Given the description of an element on the screen output the (x, y) to click on. 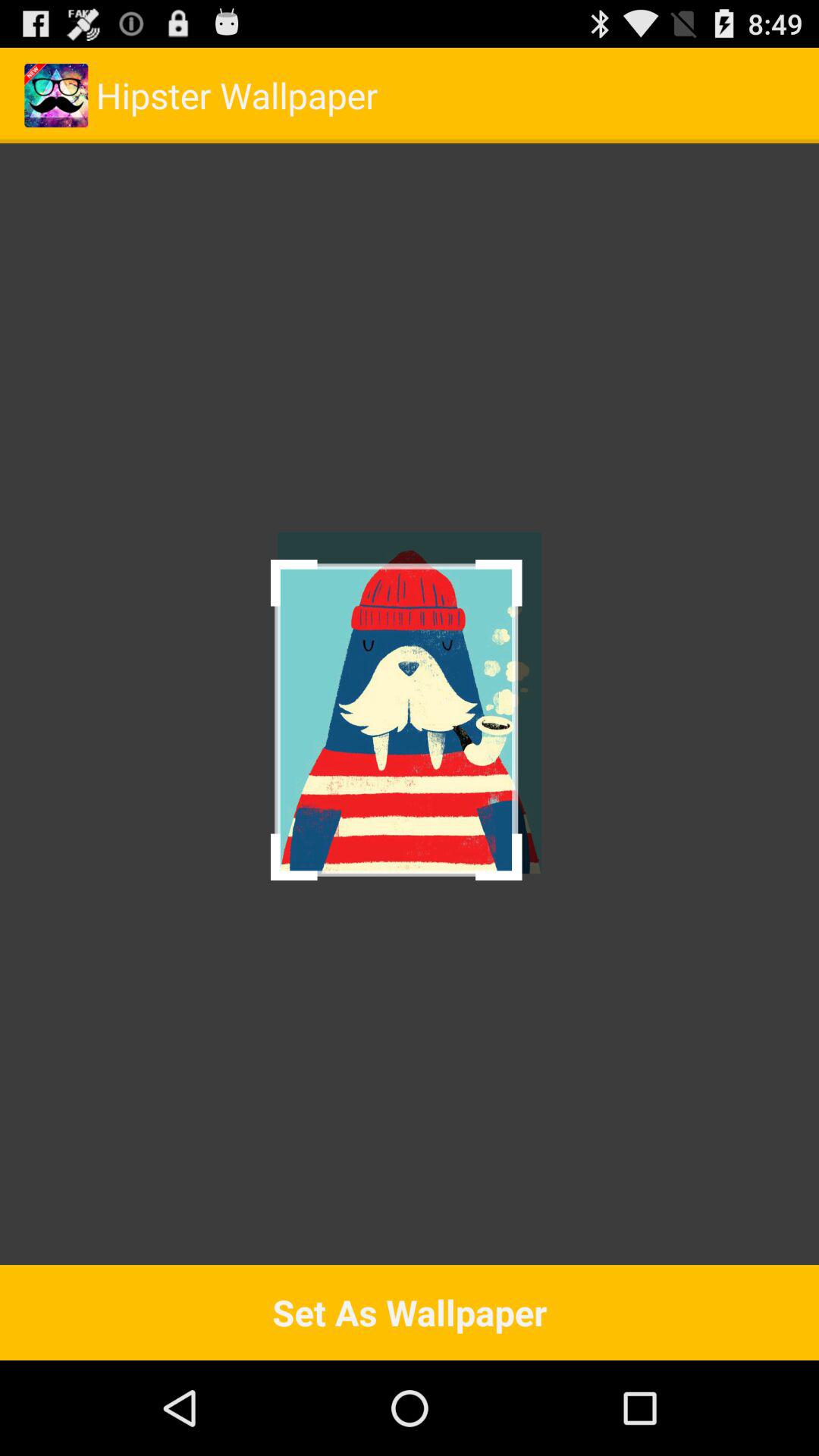
turn off the set as wallpaper item (409, 1312)
